Given the description of an element on the screen output the (x, y) to click on. 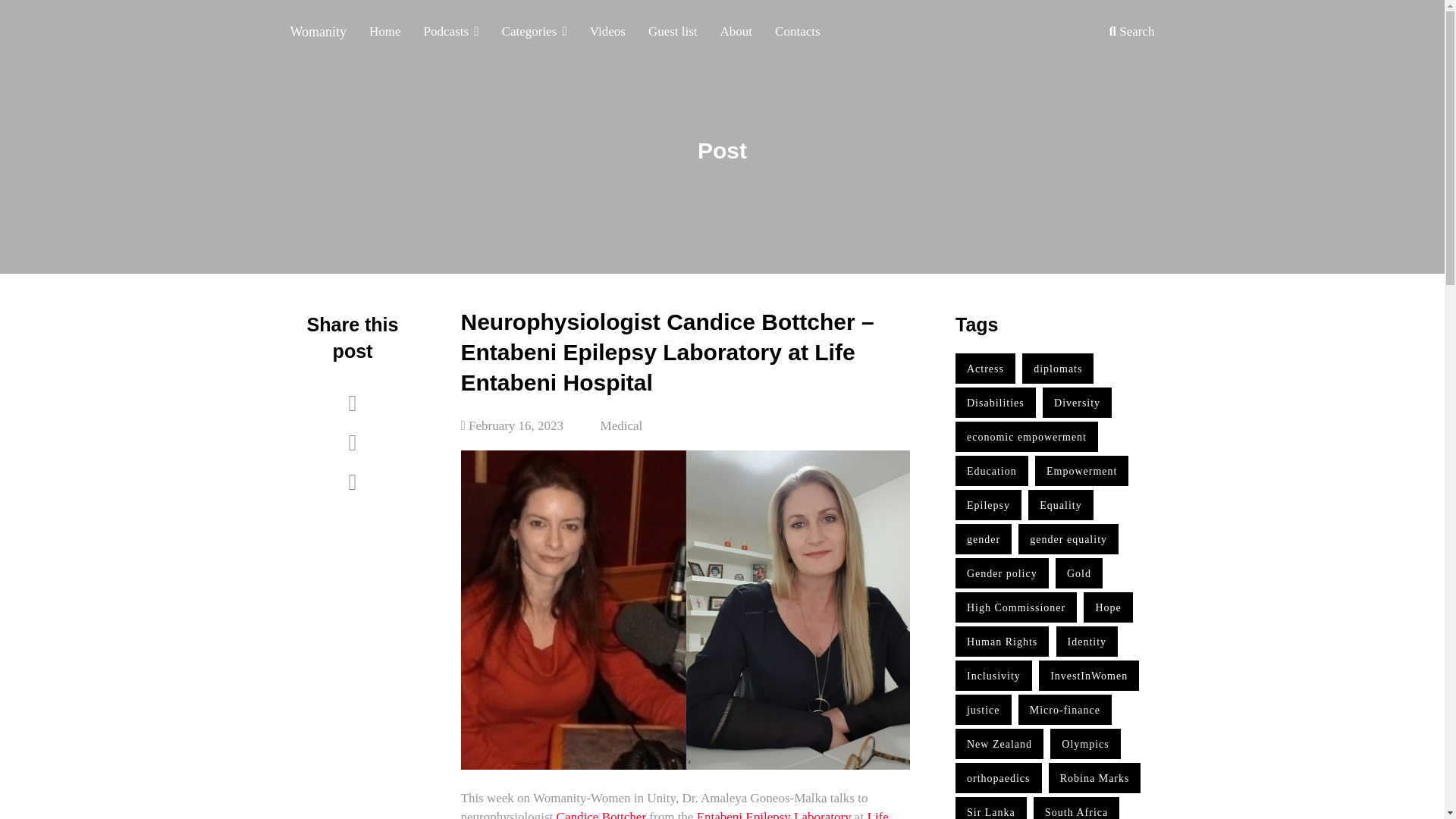
Search (1131, 39)
Medical (621, 425)
Contacts (796, 39)
Guest list (673, 39)
Categories (534, 39)
Podcasts (451, 39)
Entabeni Epilepsy Laboratory (775, 814)
Candice Bottcher (601, 814)
Home (385, 39)
Podcasts (451, 39)
